Given the description of an element on the screen output the (x, y) to click on. 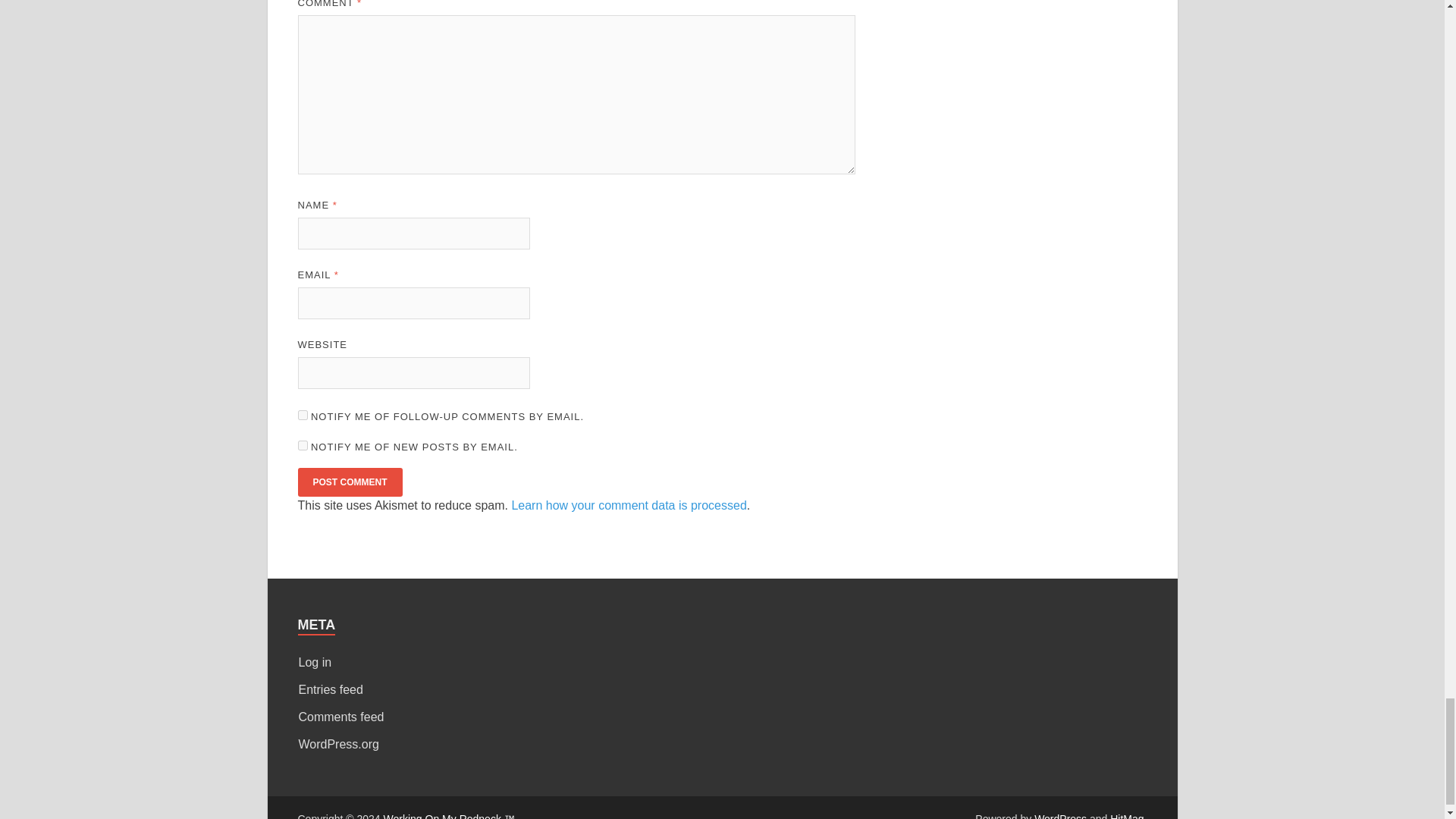
Post Comment (349, 481)
Learn how your comment data is processed (628, 504)
Post Comment (349, 481)
subscribe (302, 445)
subscribe (302, 415)
